Given the description of an element on the screen output the (x, y) to click on. 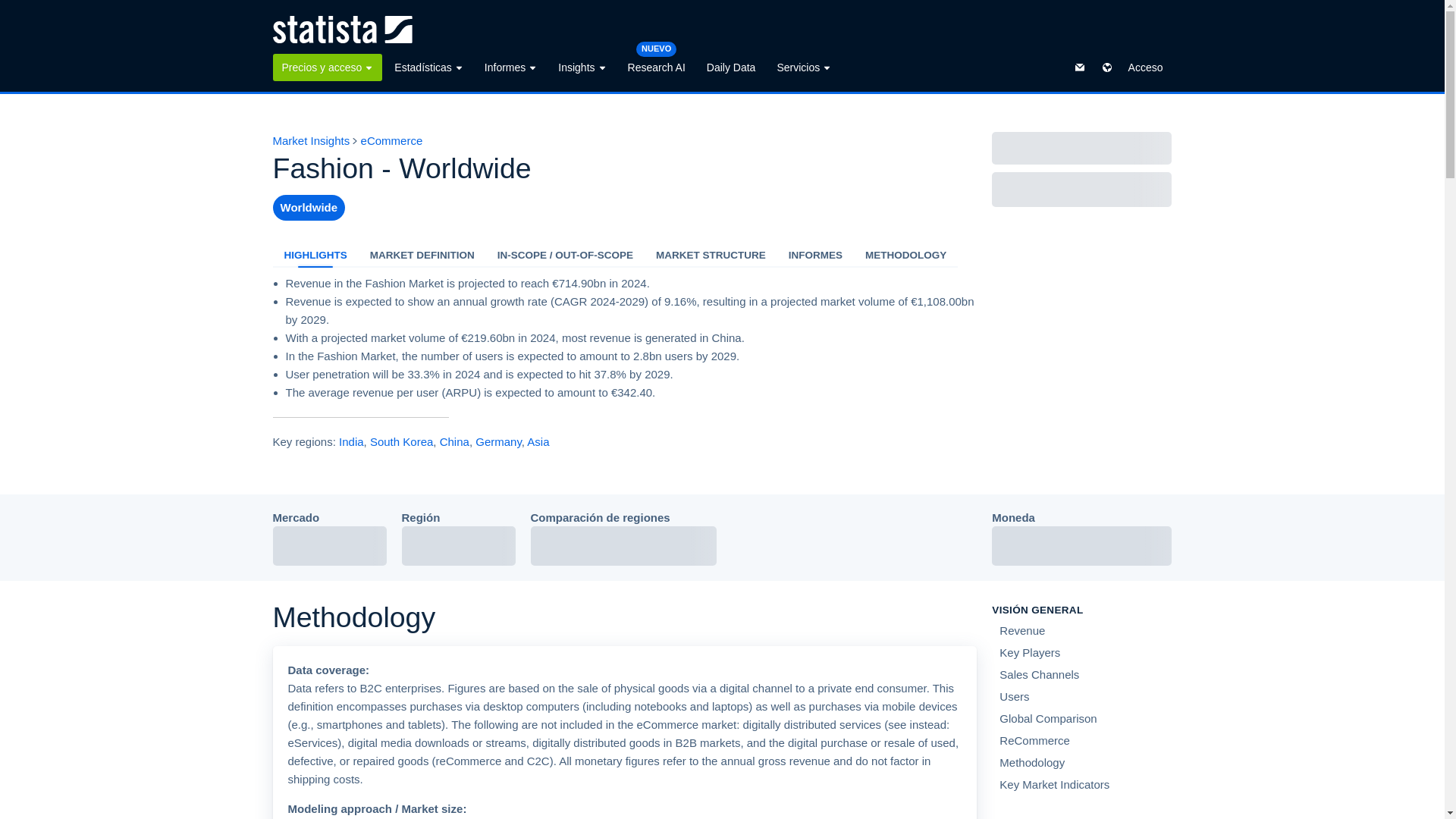
Ir al contenido principal (12, 9)
Precios y acceso (327, 67)
Informes (511, 67)
Acceso (1145, 67)
Acceso (1145, 67)
